Given the description of an element on the screen output the (x, y) to click on. 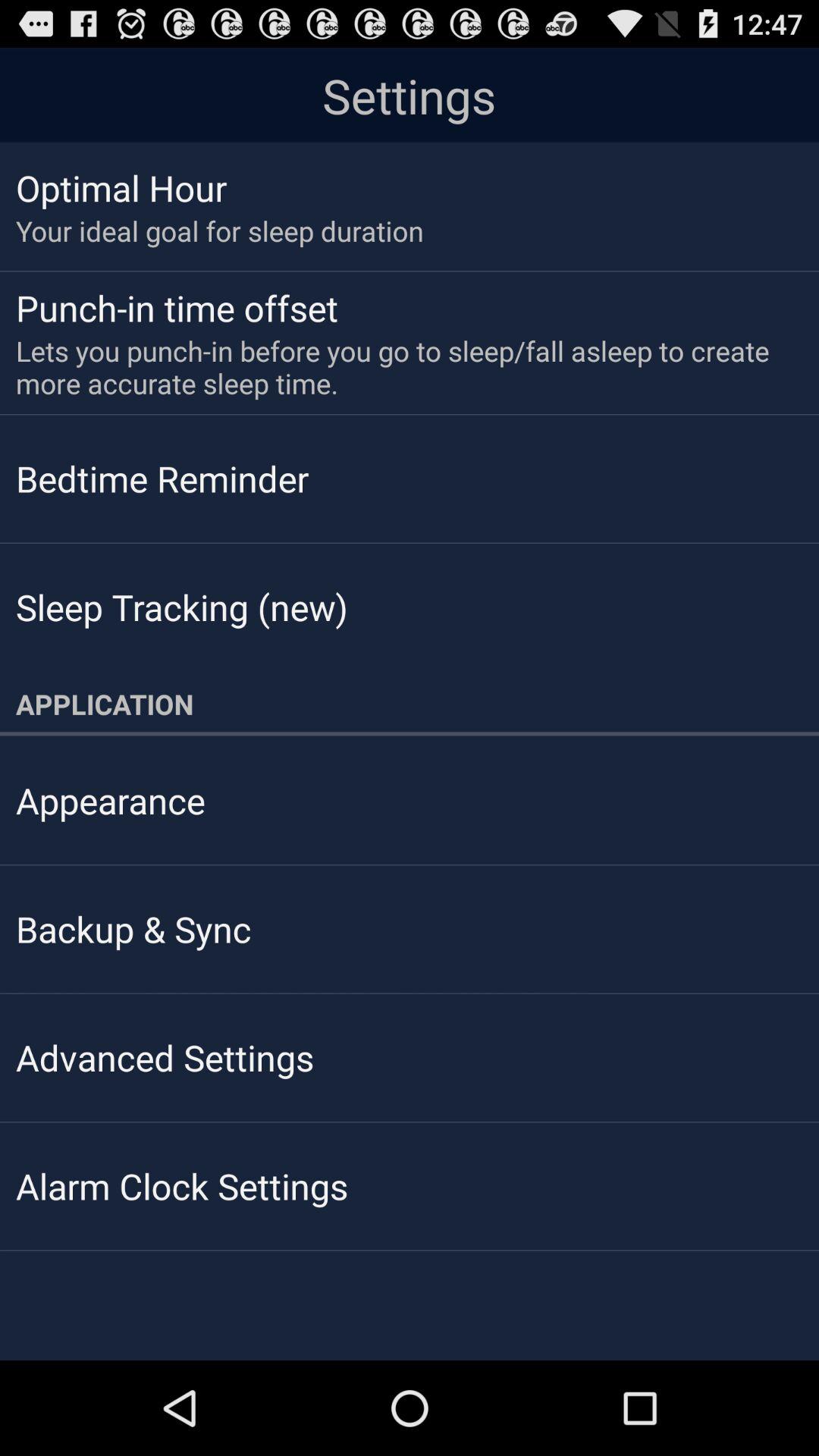
press item below the backup & sync (164, 1057)
